Given the description of an element on the screen output the (x, y) to click on. 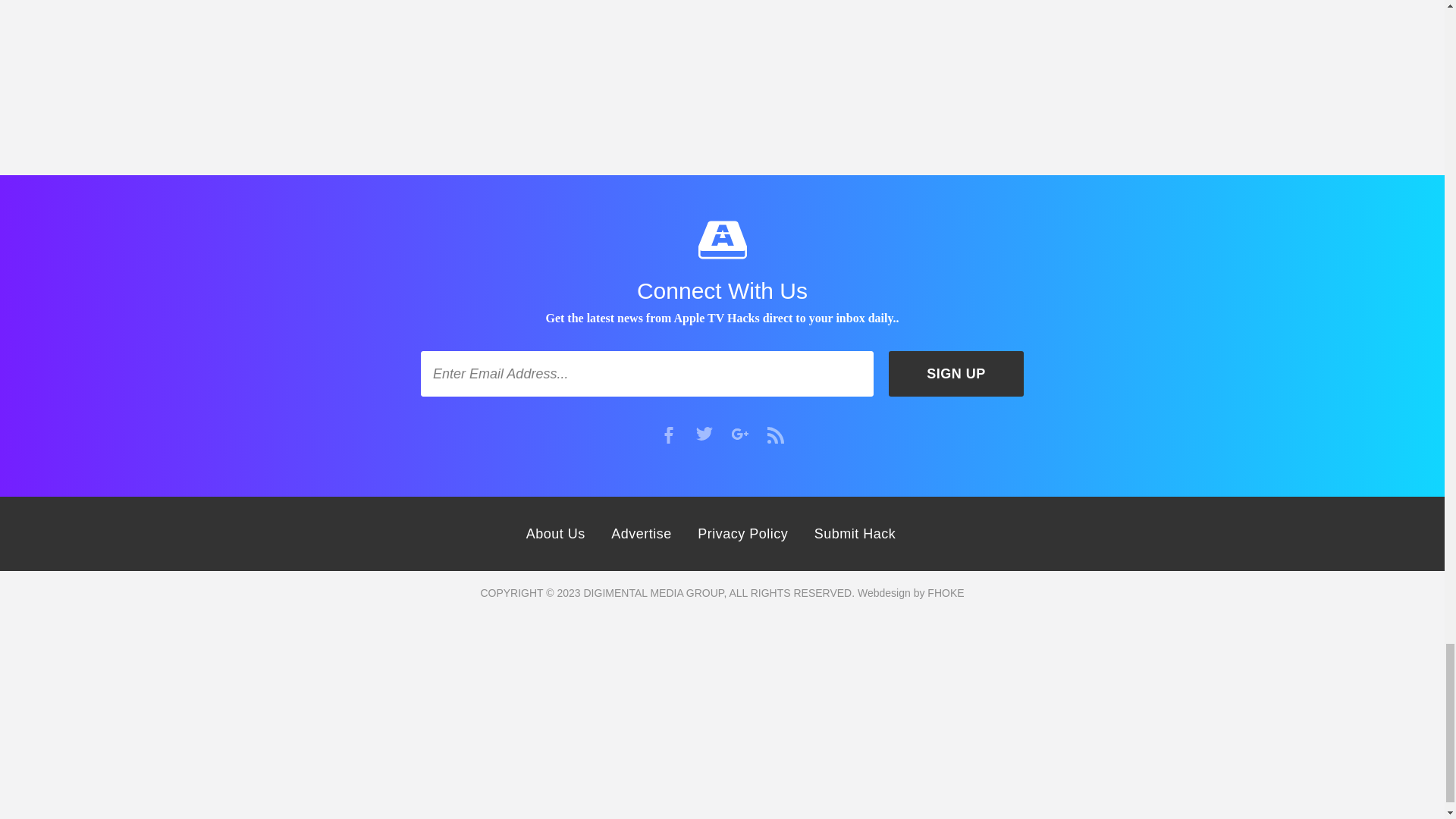
Sign Up (955, 373)
